Given the description of an element on the screen output the (x, y) to click on. 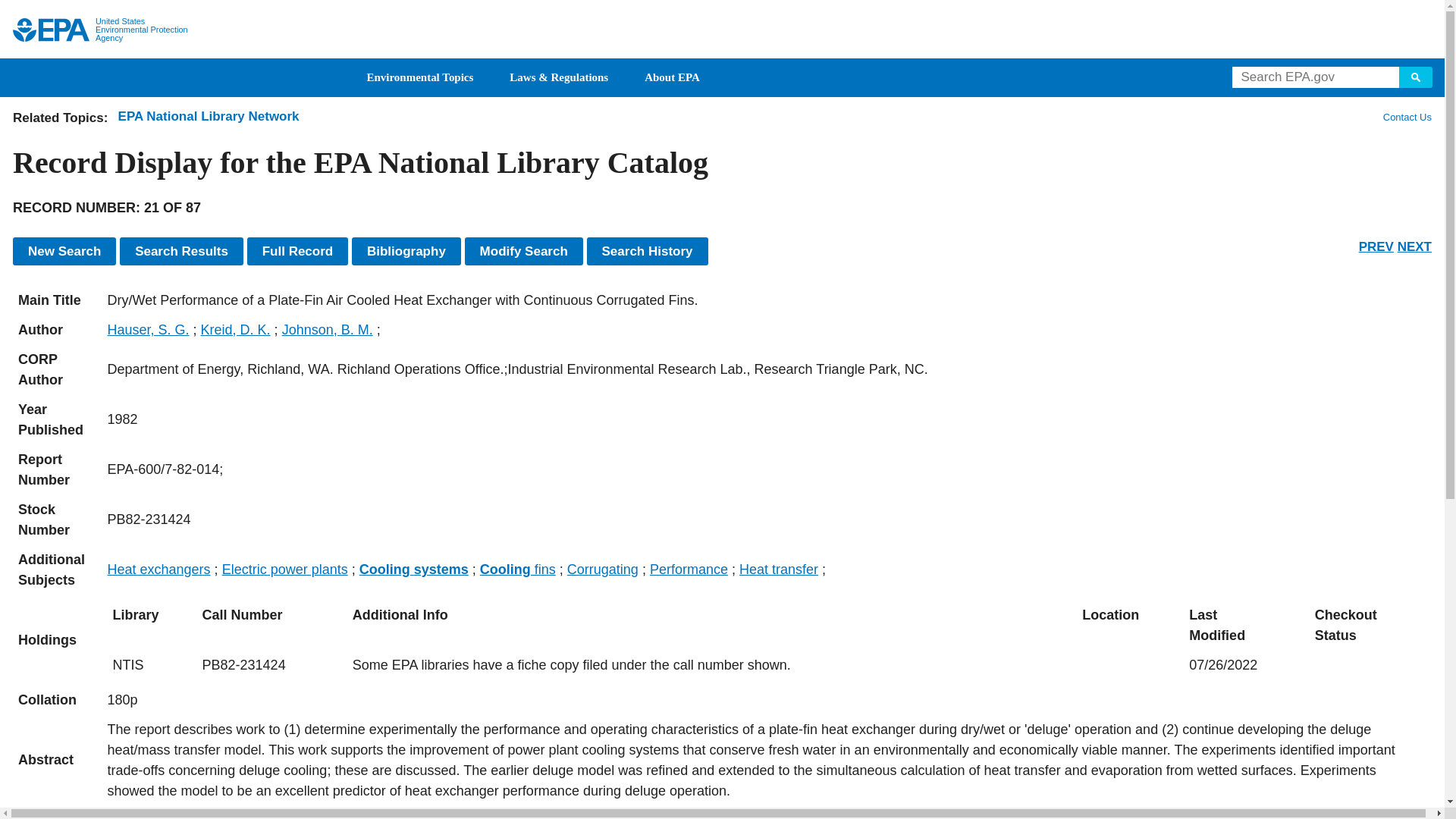
Hauser, S. G. (148, 329)
About EPA (671, 77)
Cooling fins (518, 569)
Environmental Topics (420, 77)
Display Full Record (298, 251)
Full Record (298, 251)
Learn about Environmental Topics that EPA covers. (420, 77)
Heat exchangers (159, 569)
NEXT (1414, 246)
Jump to main content (723, 9)
